Given the description of an element on the screen output the (x, y) to click on. 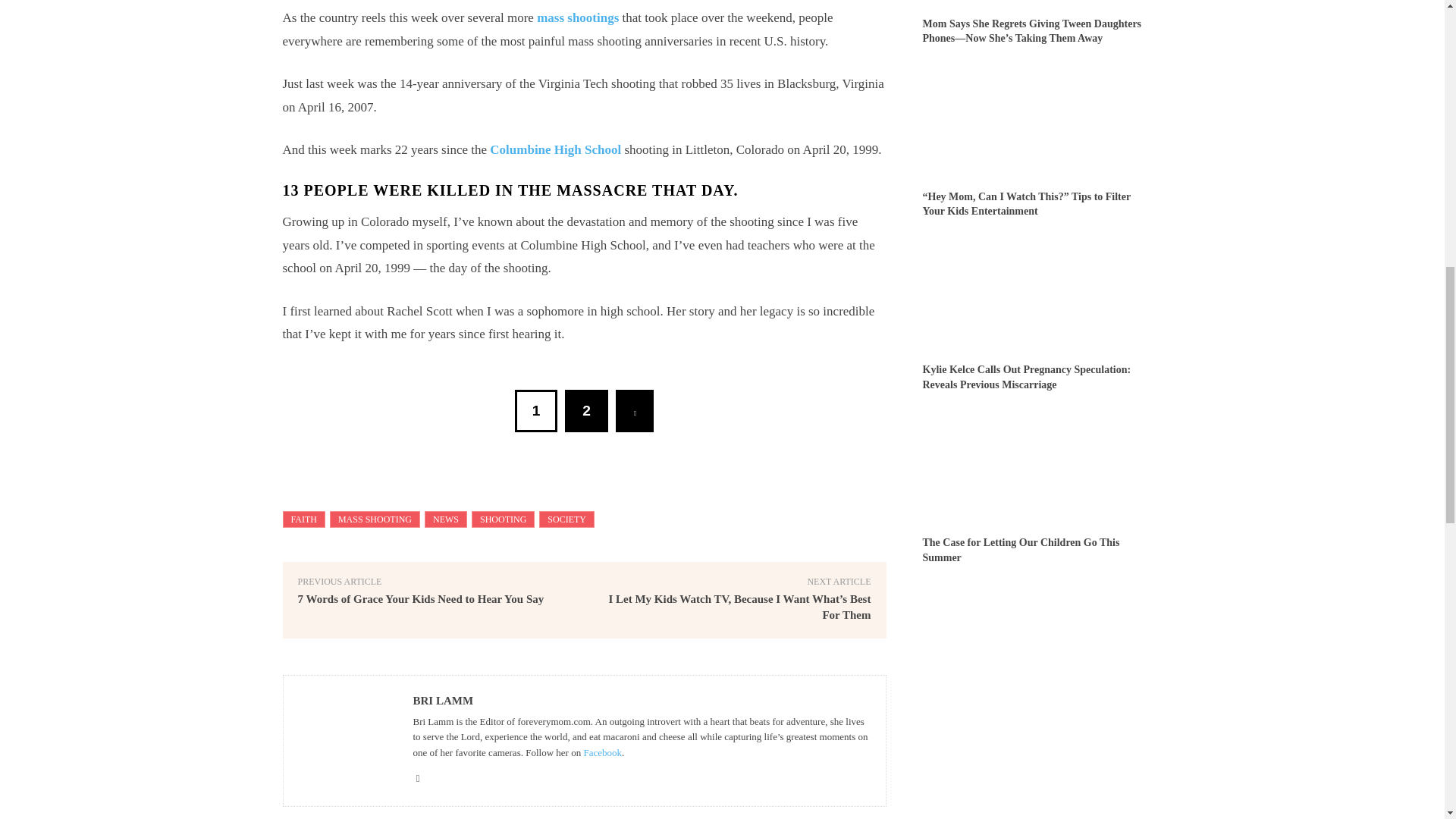
SOCIETY (566, 519)
Columbine High School (555, 149)
MASS SHOOTING (375, 519)
2 (586, 410)
FAITH (303, 519)
facebook (417, 774)
Facebook (602, 752)
mass shootings (577, 17)
SHOOTING (502, 519)
Bri Lamm (347, 740)
NEWS (446, 519)
